Given the description of an element on the screen output the (x, y) to click on. 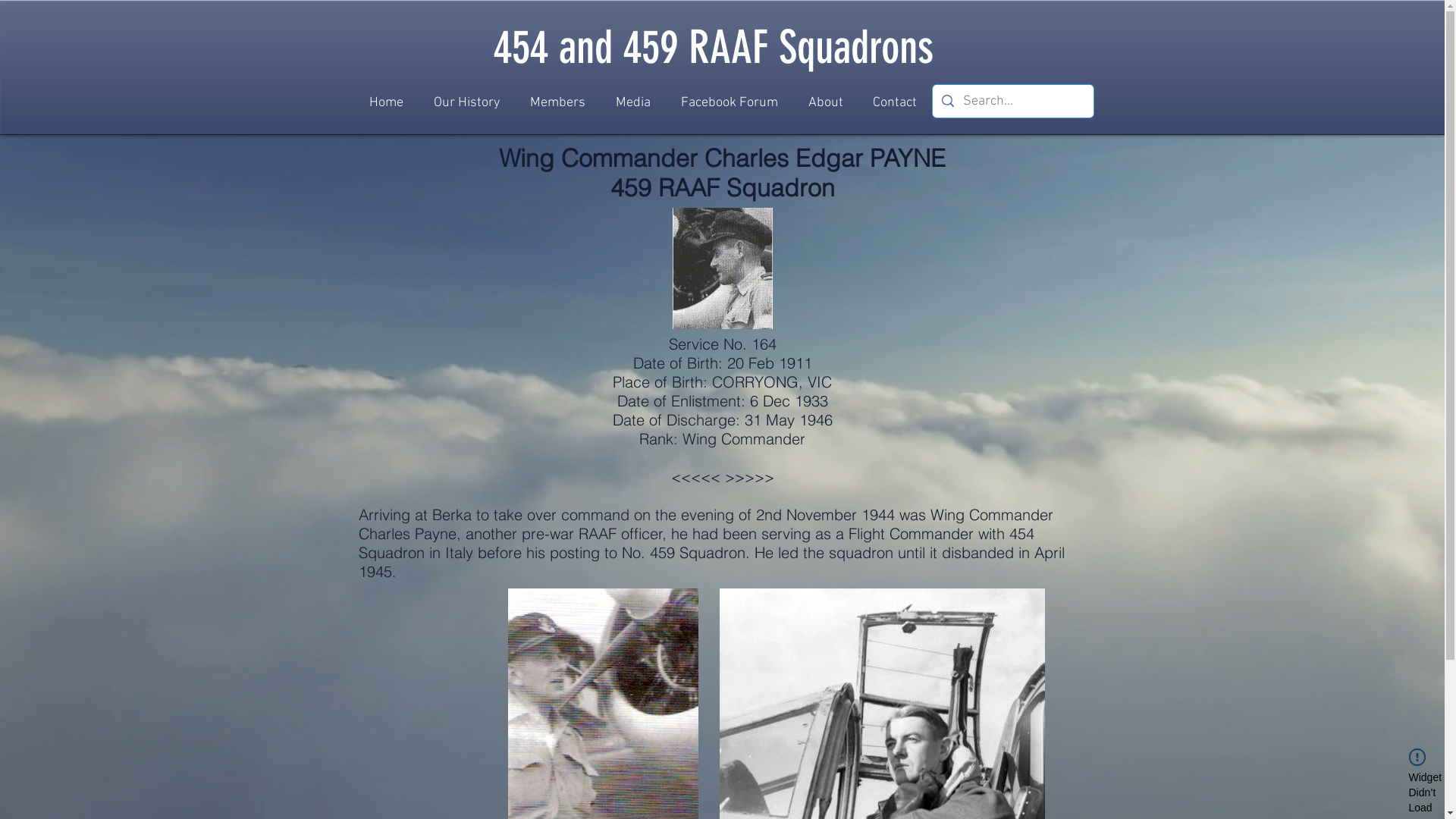
Contact Element type: text (894, 103)
Home Element type: text (385, 103)
Facebook Forum Element type: text (729, 103)
Our History Element type: text (466, 103)
Media Element type: text (632, 103)
About Element type: text (825, 103)
Members Element type: text (556, 103)
